Given the description of an element on the screen output the (x, y) to click on. 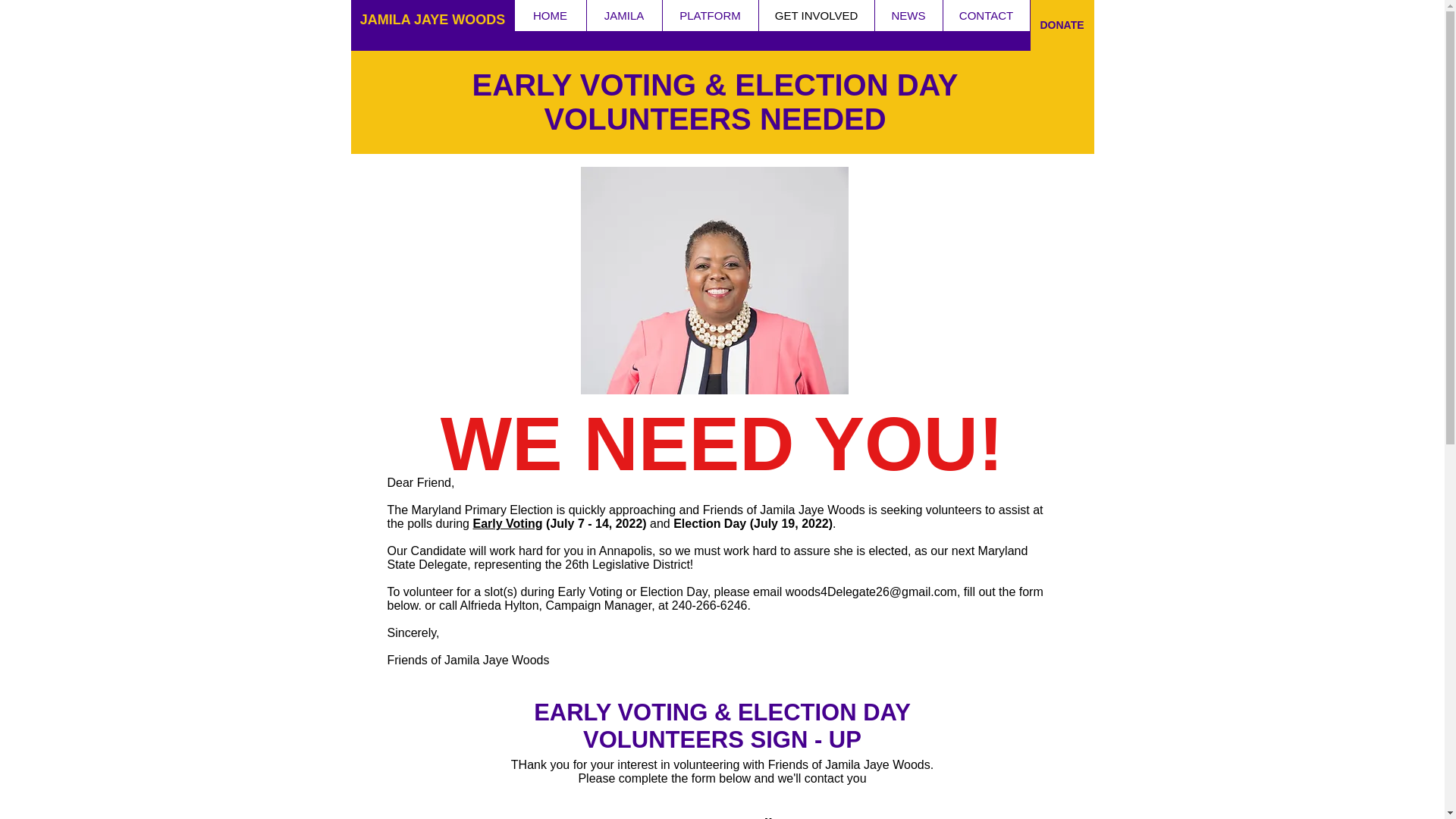
PLATFORM (709, 15)
JAMILA (623, 15)
NEWS (907, 15)
Early Voting (506, 522)
CONTACT (985, 15)
GET INVOLVED (816, 15)
DONATE (1061, 25)
HOME (549, 15)
